Given the description of an element on the screen output the (x, y) to click on. 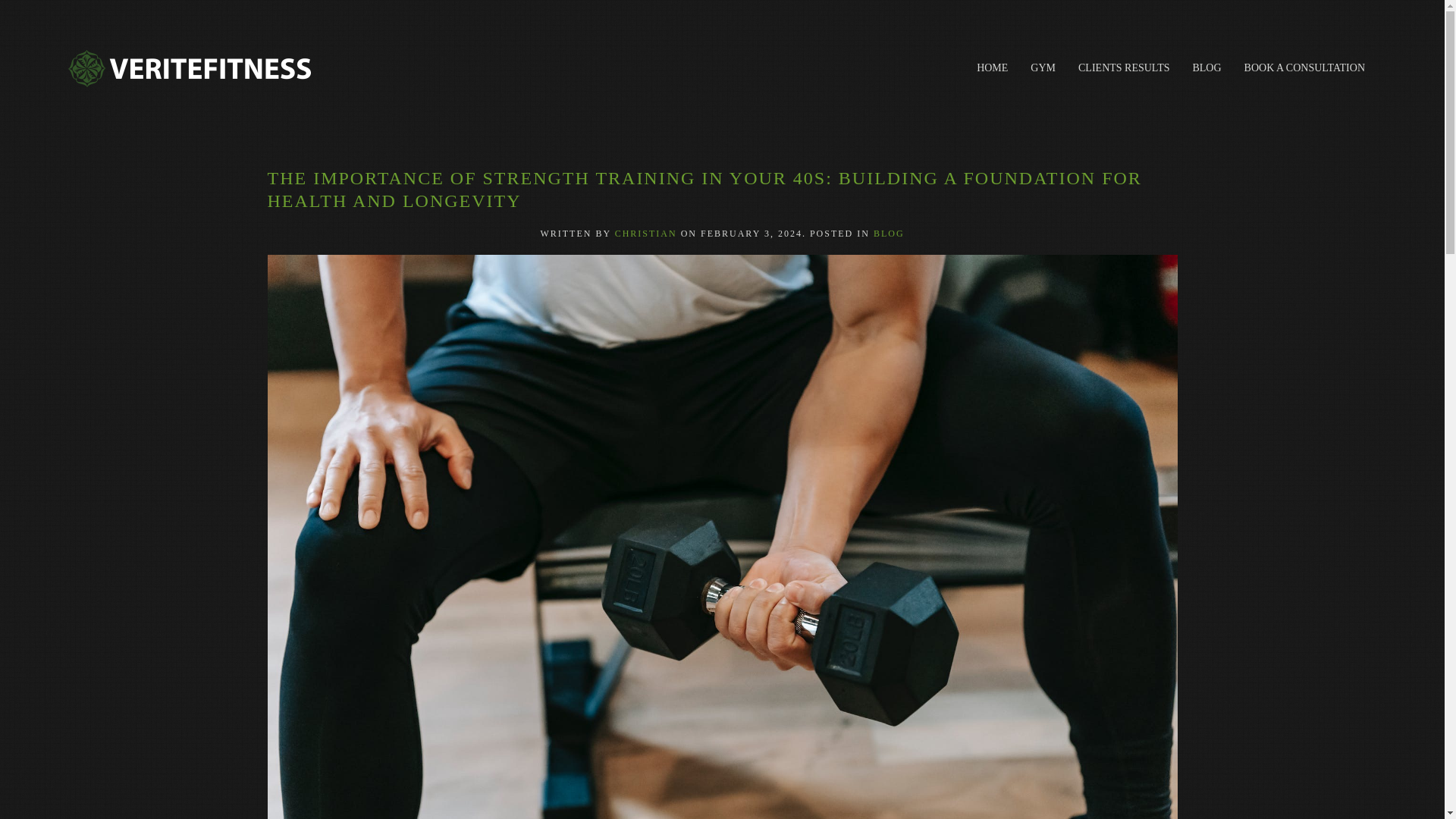
CLIENTS RESULTS (1123, 68)
BLOG (1205, 68)
HOME (992, 68)
Christian (645, 233)
BOOK A CONSULTATION (1304, 68)
GYM (1043, 68)
BLOG (888, 233)
CHRISTIAN (645, 233)
